Given the description of an element on the screen output the (x, y) to click on. 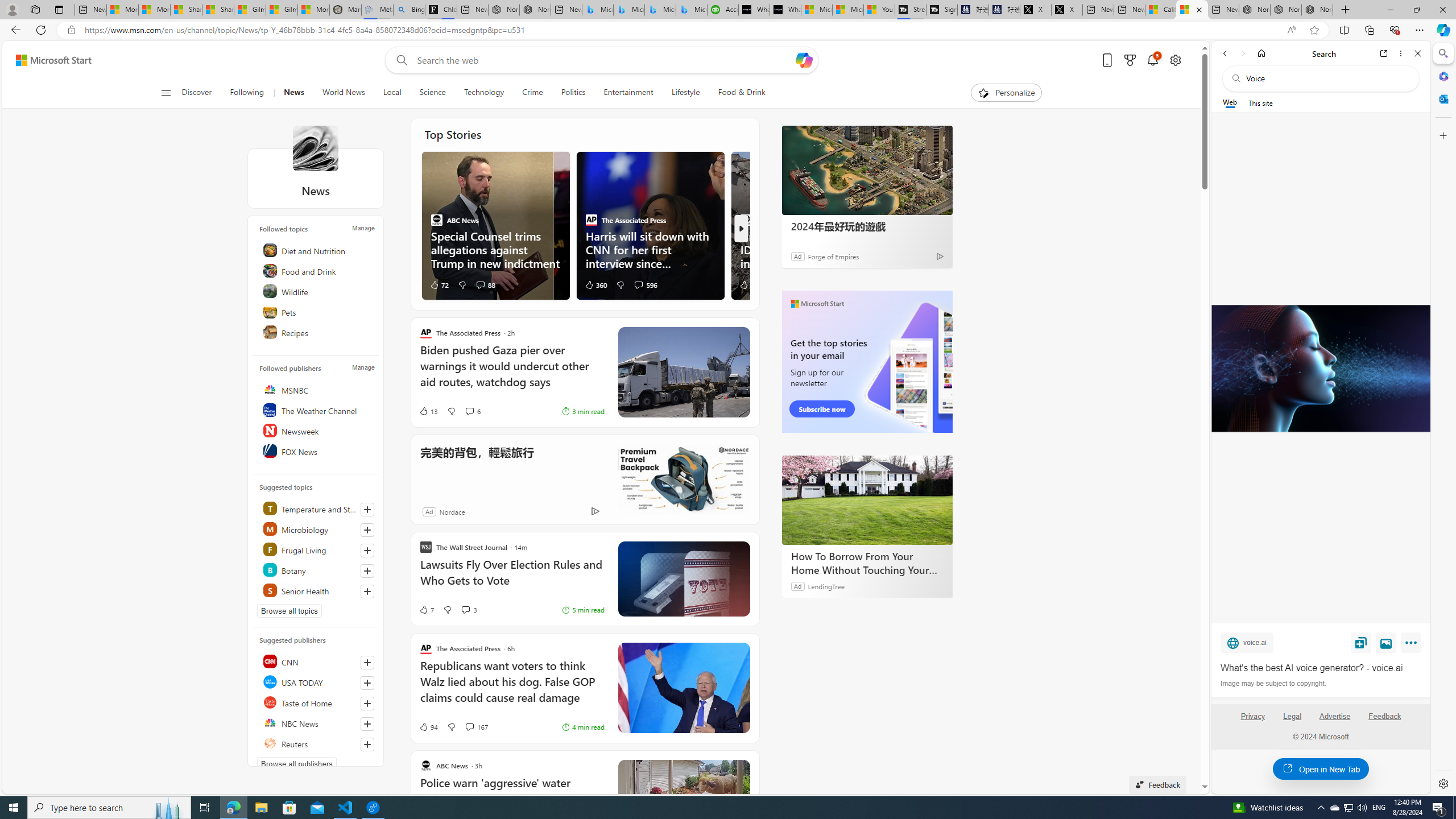
Nordace Siena Pro 15 Backpack (1285, 9)
Science (432, 92)
FOX News (317, 451)
Streaming Coverage | T3 (909, 9)
Bing Real Estate - Home sales and rental listings (408, 9)
Reuters (317, 743)
Home (1261, 53)
